Given the description of an element on the screen output the (x, y) to click on. 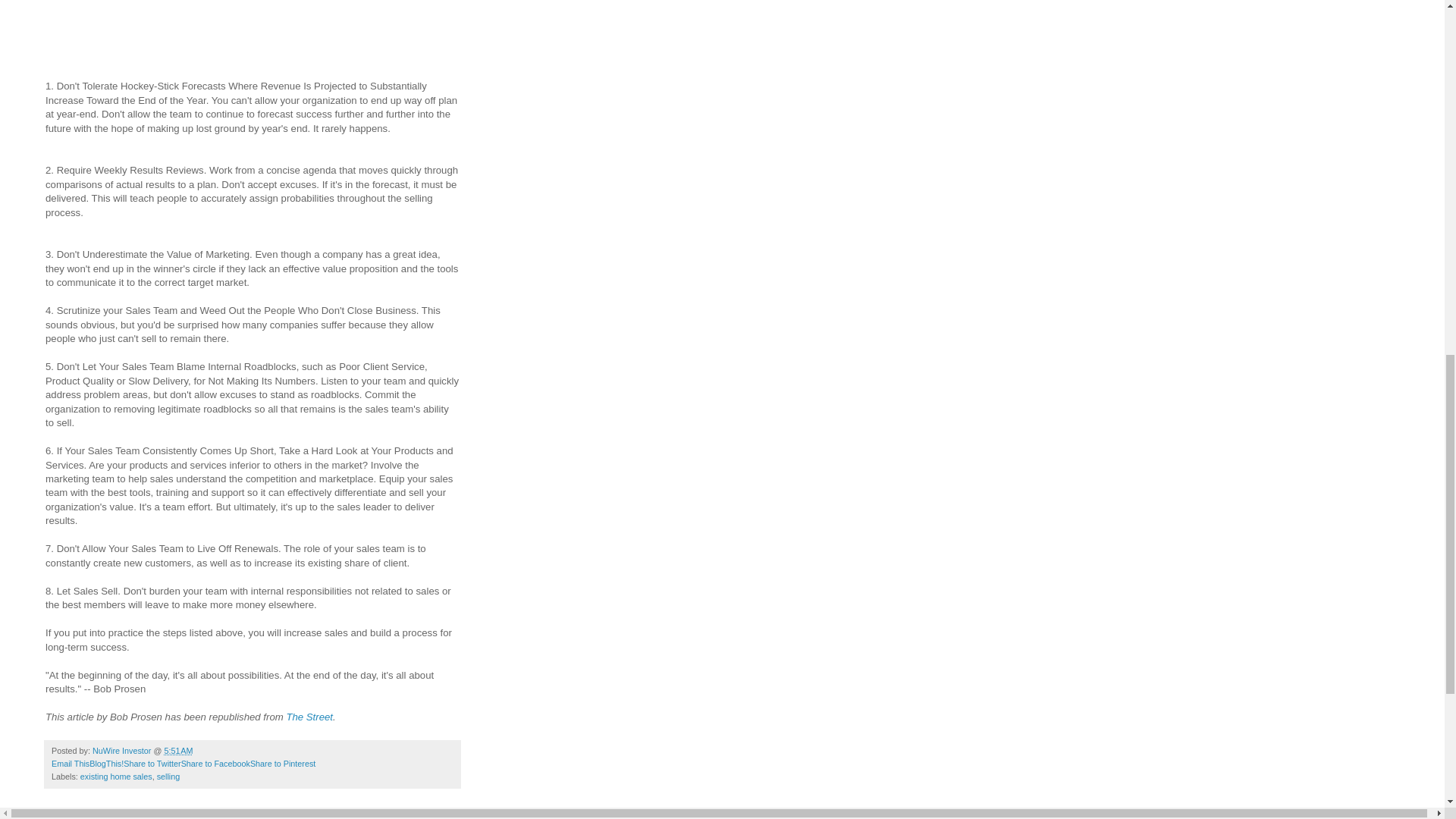
Share to Twitter (151, 763)
Advertisement (252, 25)
Share to Facebook (215, 763)
existing home sales (116, 776)
Share to Pinterest (282, 763)
BlogThis! (105, 763)
Email This (69, 763)
BlogThis! (105, 763)
Share to Twitter (151, 763)
Share to Facebook (215, 763)
permanent link (177, 750)
author profile (122, 750)
Email This (69, 763)
Email Post (202, 750)
